Given the description of an element on the screen output the (x, y) to click on. 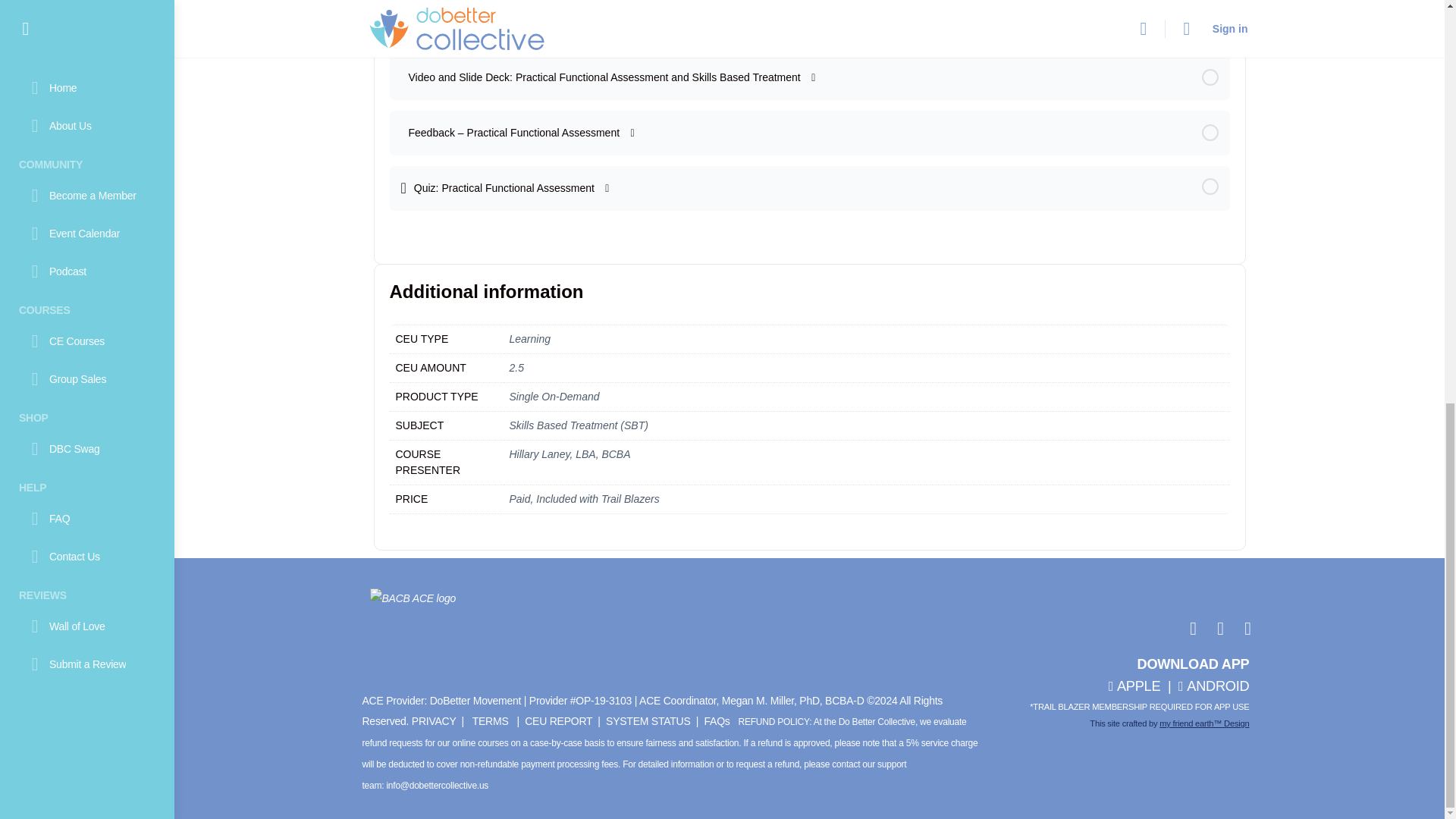
visit mfe Design (1203, 723)
